Given the description of an element on the screen output the (x, y) to click on. 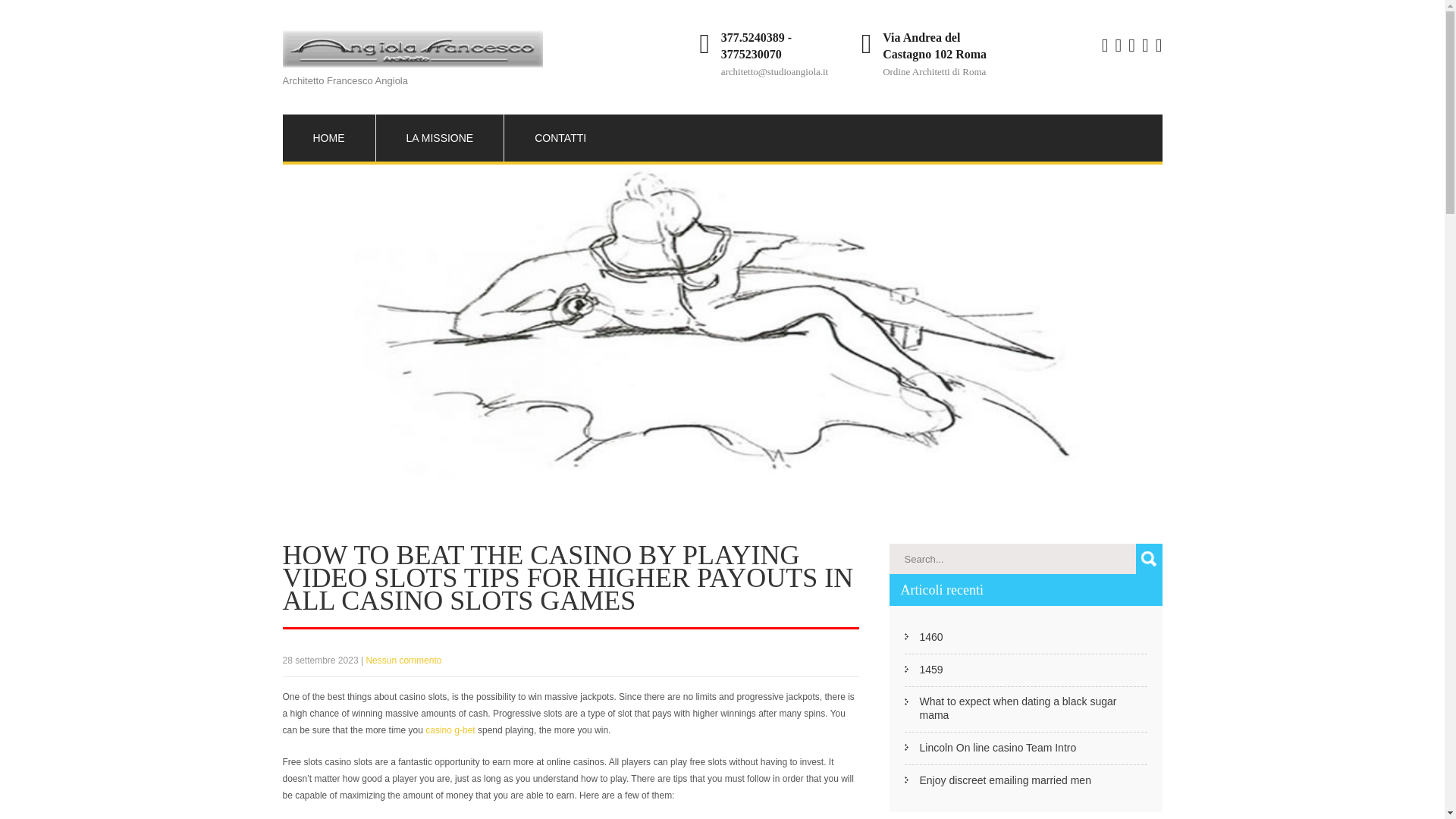
Lincoln On line casino Team Intro (996, 747)
1459 (930, 669)
1460 (930, 636)
LA MISSIONE (439, 137)
CONTATTI (559, 137)
377.5240389 - 3775230070 (756, 45)
casino g-bet (449, 729)
Enjoy discreet emailing married men (1004, 780)
HOME (328, 137)
Nessun commento (403, 660)
What to expect when dating a black sugar mama (1032, 707)
Architetto Francesco Angiola (411, 66)
